Given the description of an element on the screen output the (x, y) to click on. 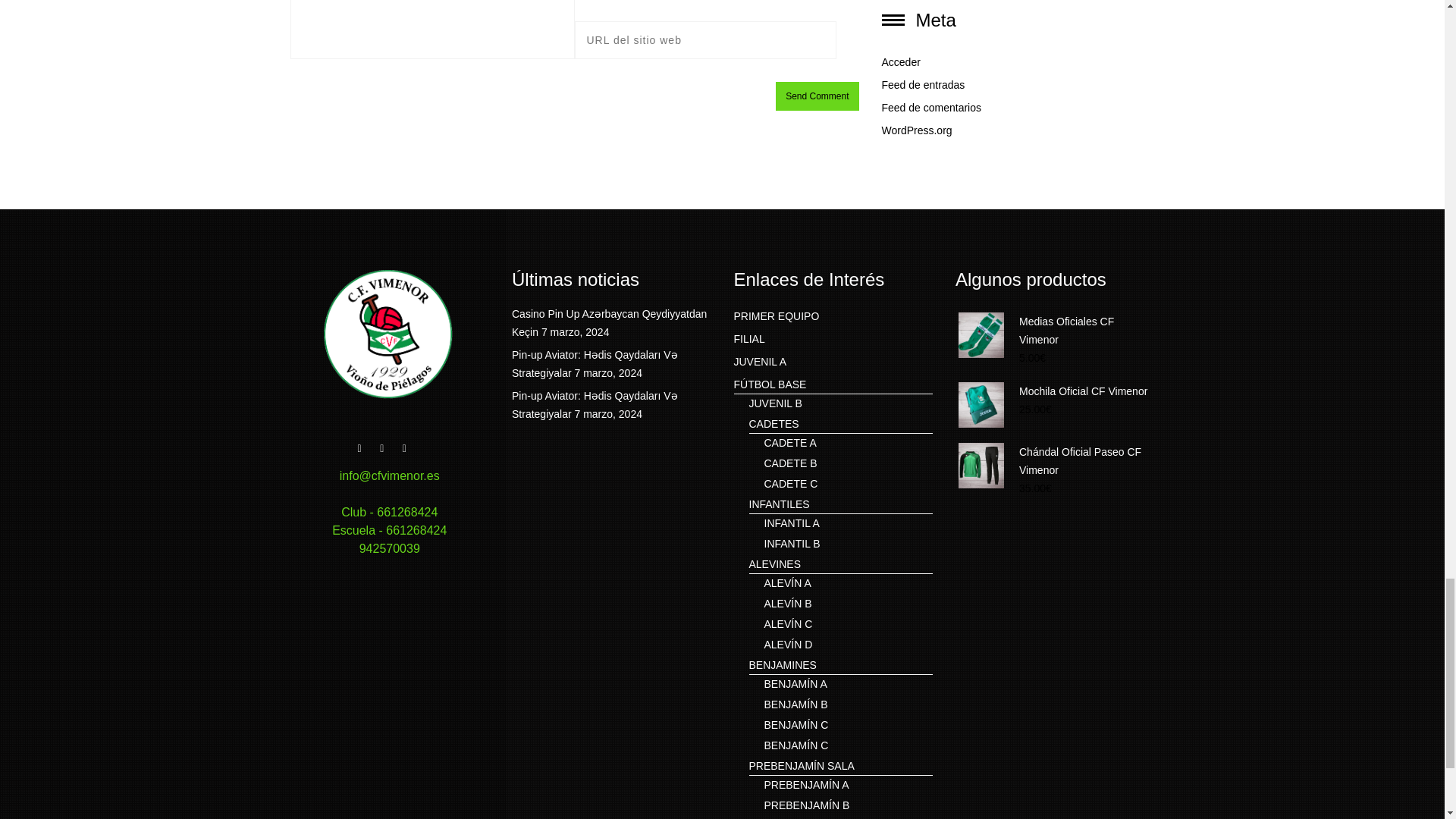
Send Comment (817, 95)
